Given the description of an element on the screen output the (x, y) to click on. 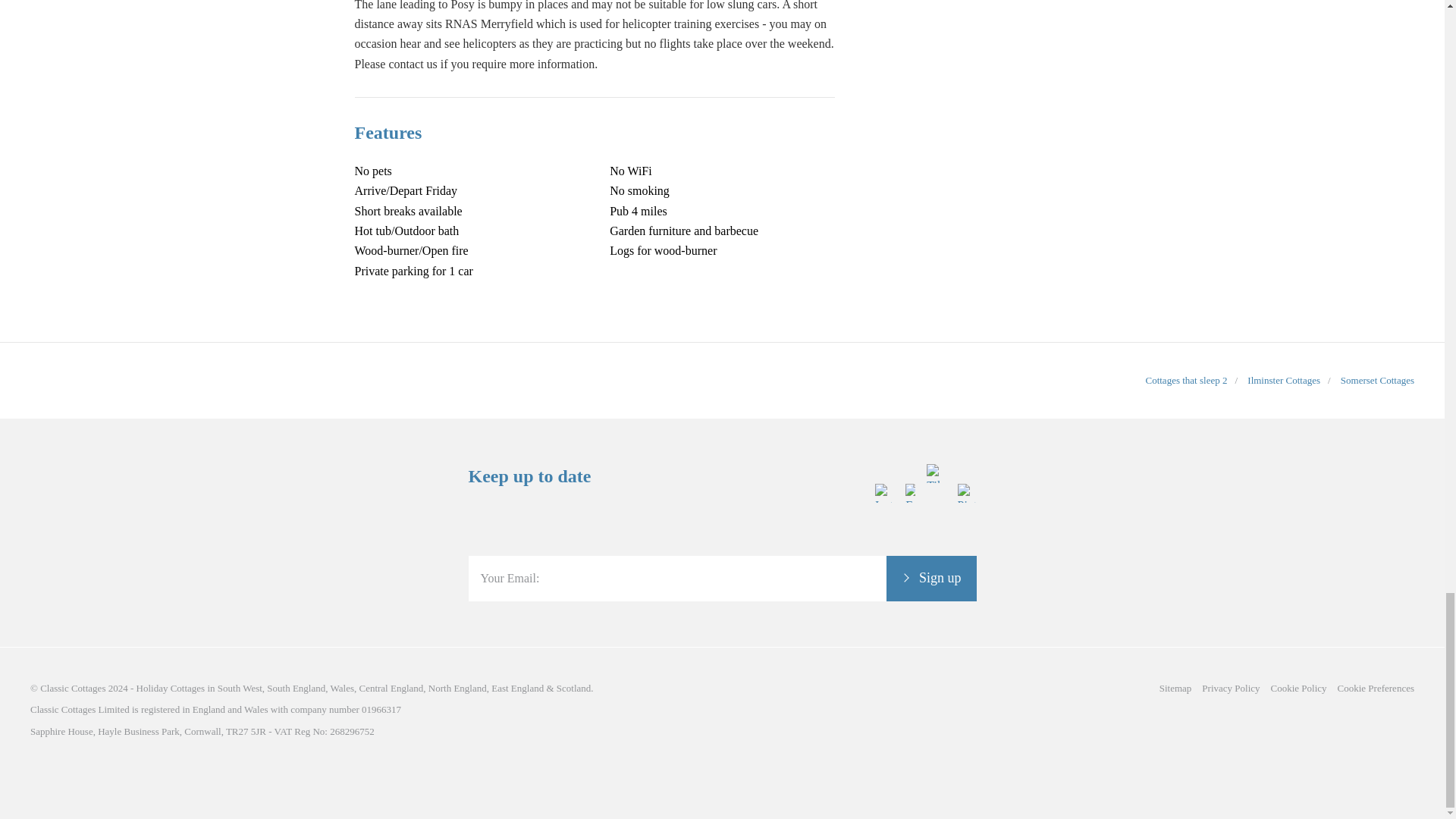
Follow Classic Cottages Pinterest (965, 545)
Cottages that sleep 2 (1185, 379)
Follow Classic Cottages Instagram (884, 545)
Ilminster Cottages (1283, 379)
Follow Classic Cottages Tik Tok (935, 545)
